Given the description of an element on the screen output the (x, y) to click on. 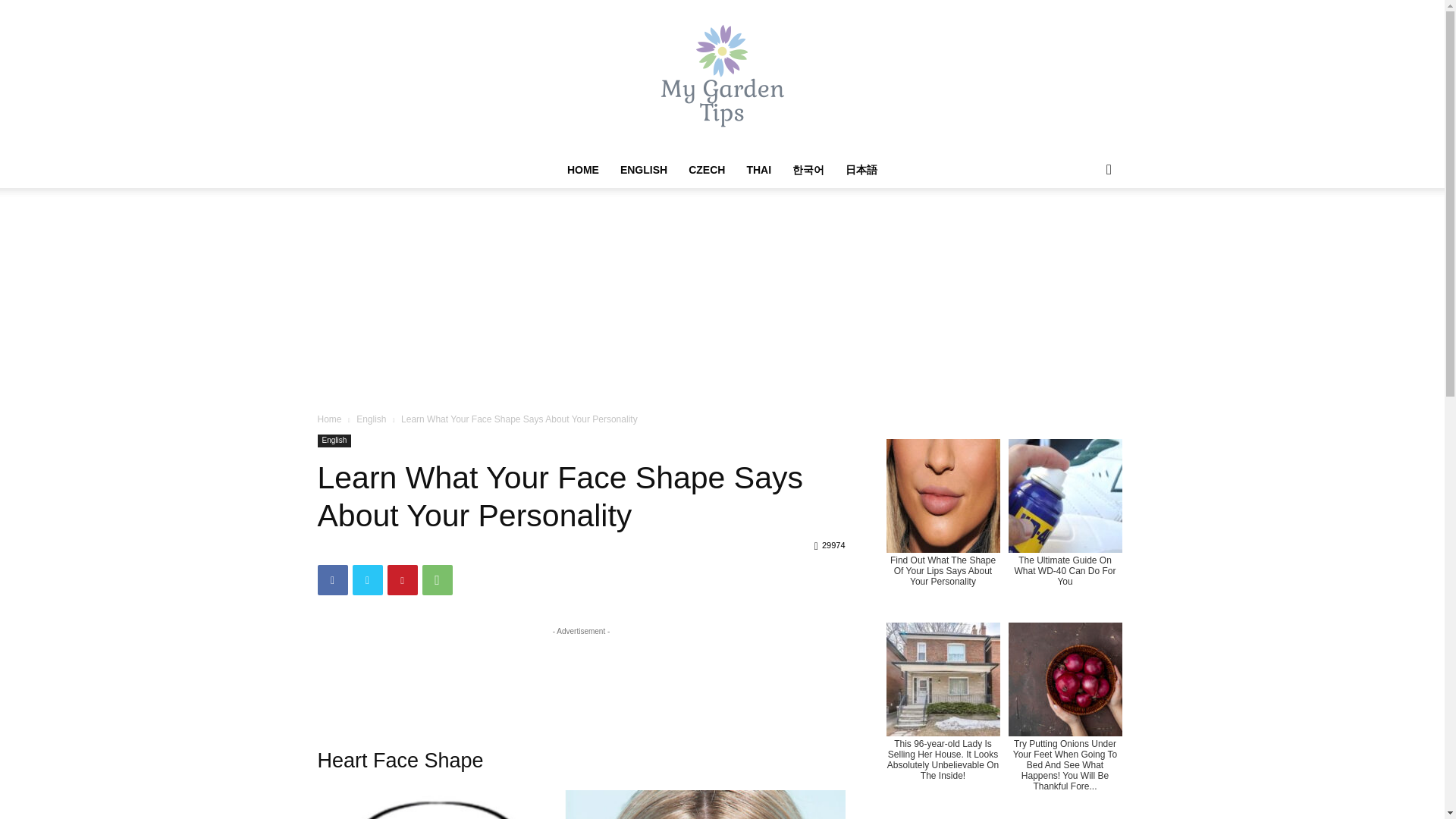
CZECH (706, 169)
Twitter (366, 580)
Pinterest (401, 580)
ENGLISH (644, 169)
HOME (583, 169)
View all posts in English (370, 419)
WhatsApp (436, 580)
English (333, 440)
Search (1085, 230)
THAI (758, 169)
Facebook (332, 580)
English (370, 419)
Home (328, 419)
Advertisement (580, 673)
